Given the description of an element on the screen output the (x, y) to click on. 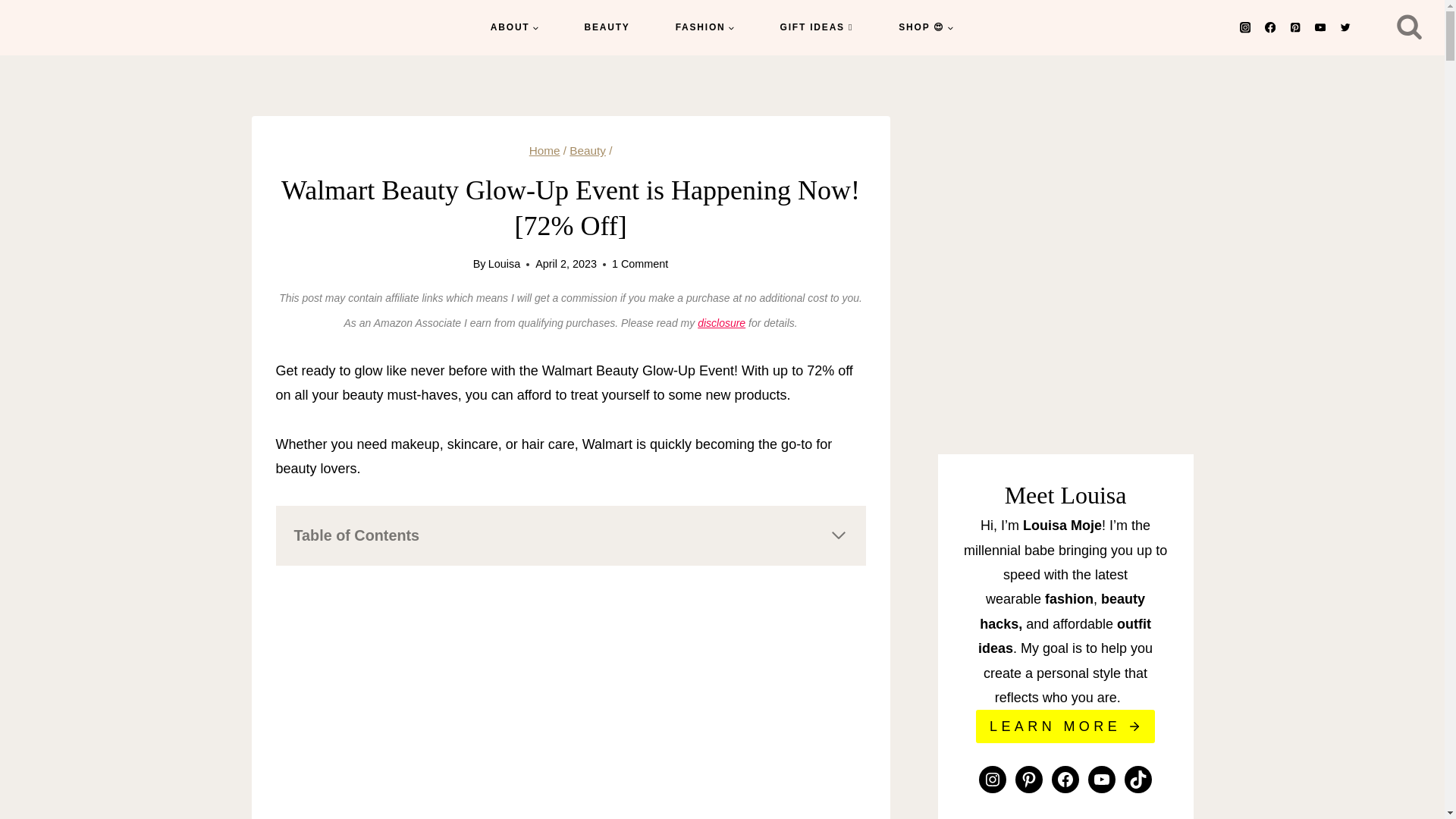
Table of Contents (570, 535)
BEAUTY (606, 27)
Louisa (503, 263)
ABOUT (514, 27)
1 Comment (639, 264)
disclosure (721, 322)
Home (544, 150)
Beauty (587, 150)
FASHION (704, 27)
1 Comment (639, 264)
